Given the description of an element on the screen output the (x, y) to click on. 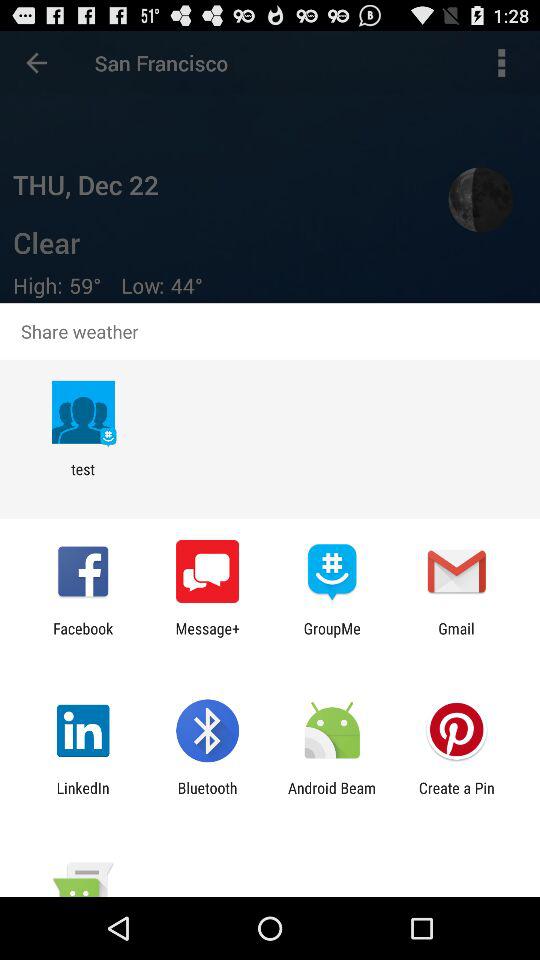
choose app to the right of the linkedin app (207, 796)
